Given the description of an element on the screen output the (x, y) to click on. 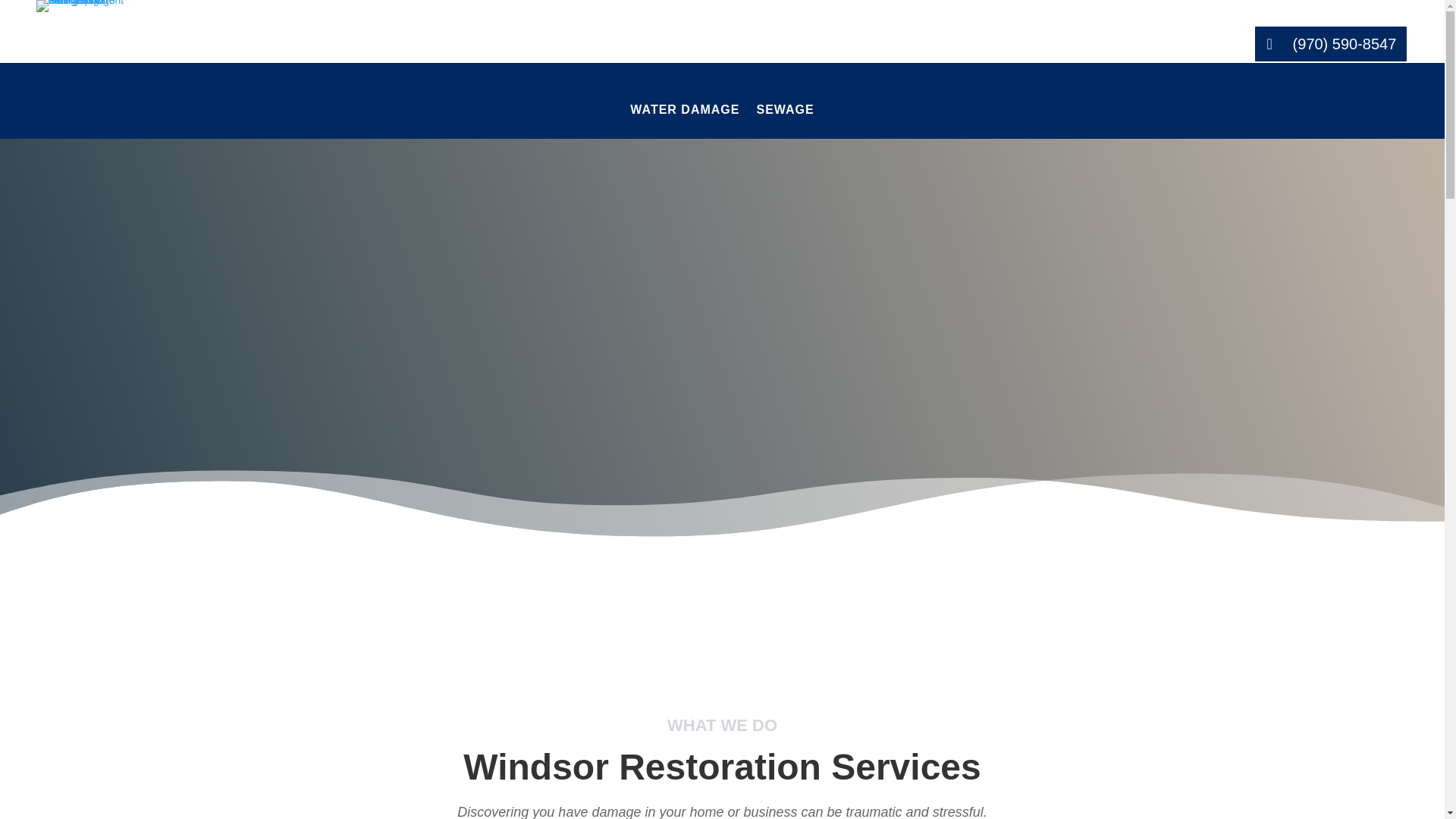
WATER DAMAGE (684, 120)
SEWAGE (784, 120)
